Given the description of an element on the screen output the (x, y) to click on. 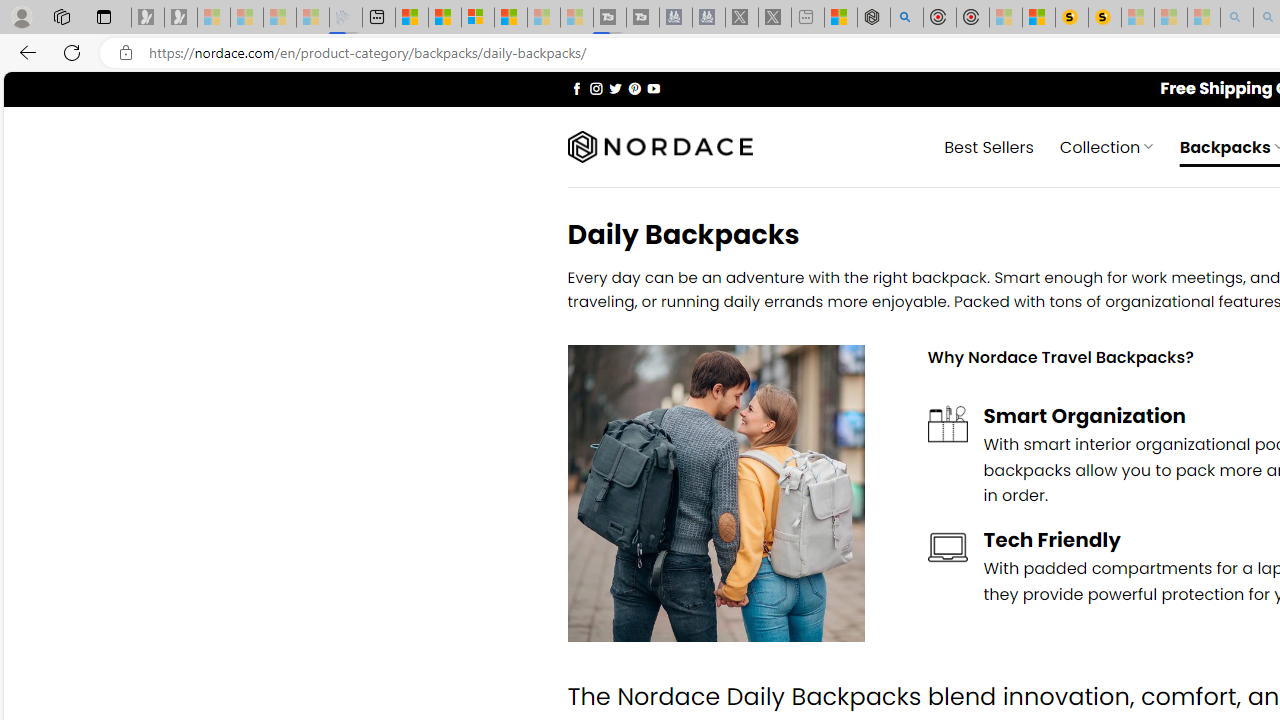
Newsletter Sign Up - Sleeping (181, 17)
Follow on YouTube (653, 88)
Follow on Instagram (596, 88)
 Best Sellers (989, 146)
Follow on Twitter (615, 88)
